Given the description of an element on the screen output the (x, y) to click on. 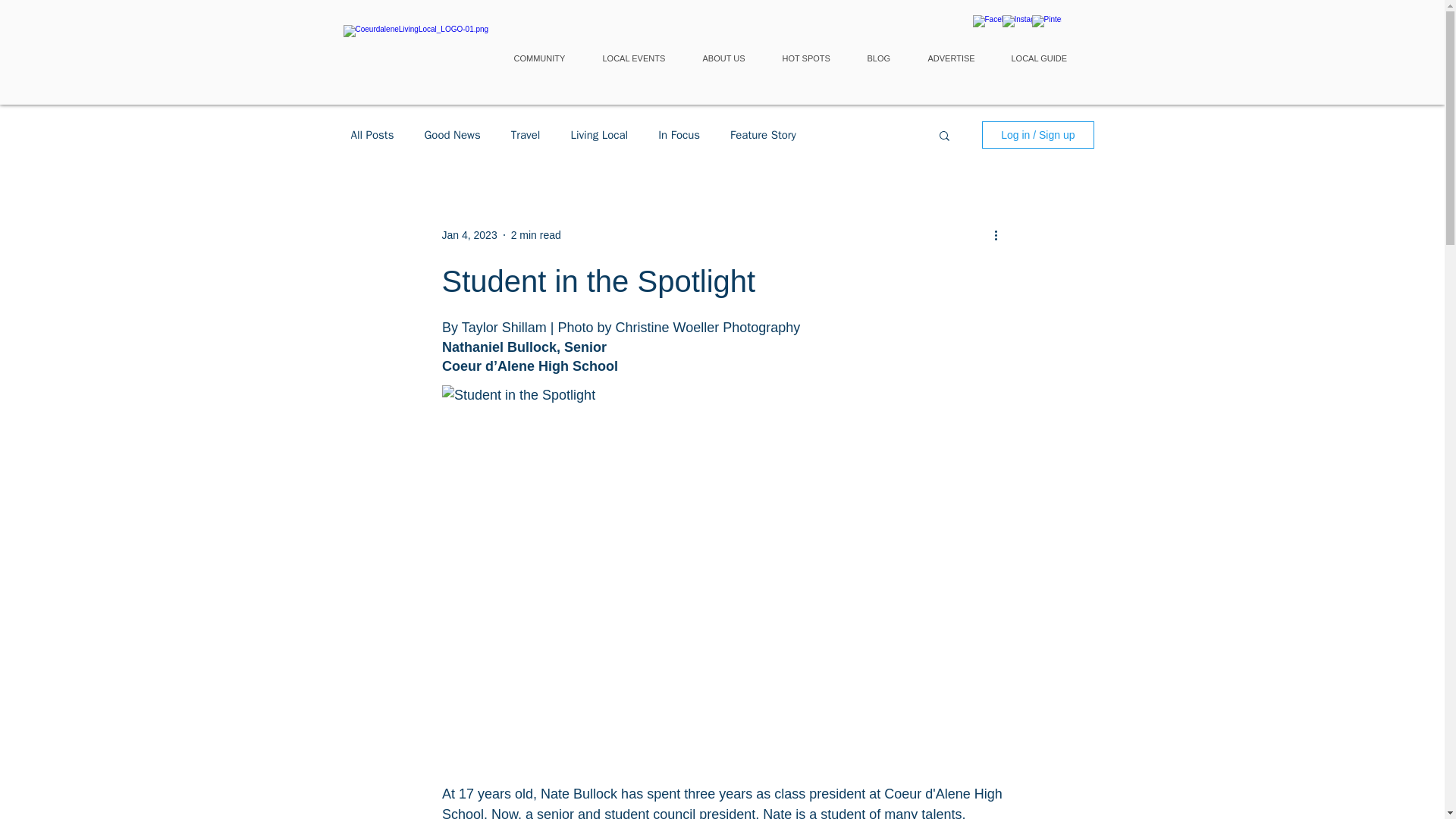
HOT SPOTS (813, 58)
Travel (525, 134)
2 min read (535, 234)
Coeur d'Alene Living Local (423, 55)
Living Local (598, 134)
LOCAL GUIDE (1045, 58)
All Posts (371, 134)
LOCAL EVENTS (639, 58)
BLOG (885, 58)
Feature Story (763, 134)
